Given the description of an element on the screen output the (x, y) to click on. 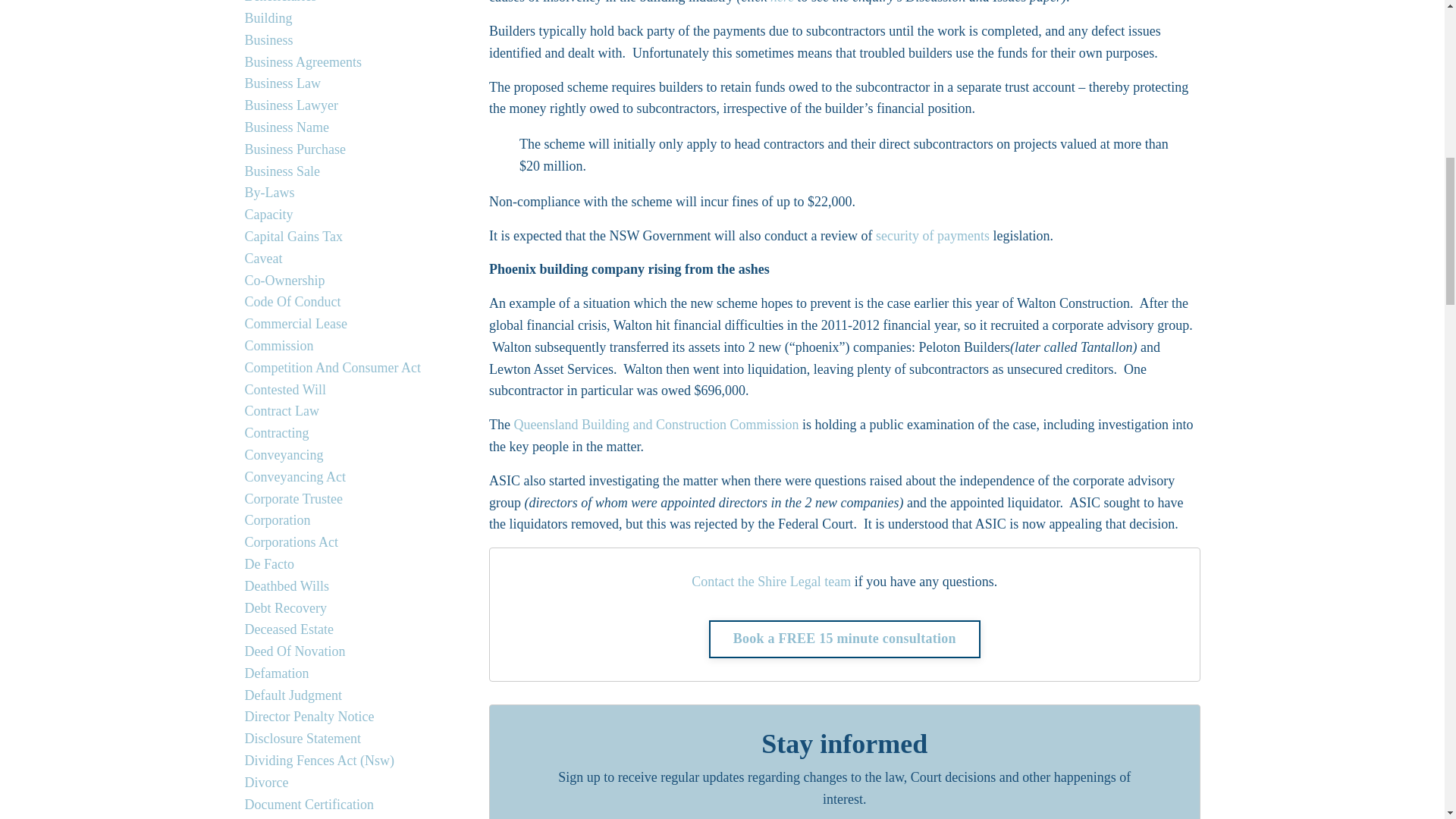
here  (783, 2)
Book a FREE 15 minute consultation (844, 638)
Contact the Shire Legal team (770, 581)
security of payments (933, 235)
Queensland Building and Construction Commission (655, 424)
